Given the description of an element on the screen output the (x, y) to click on. 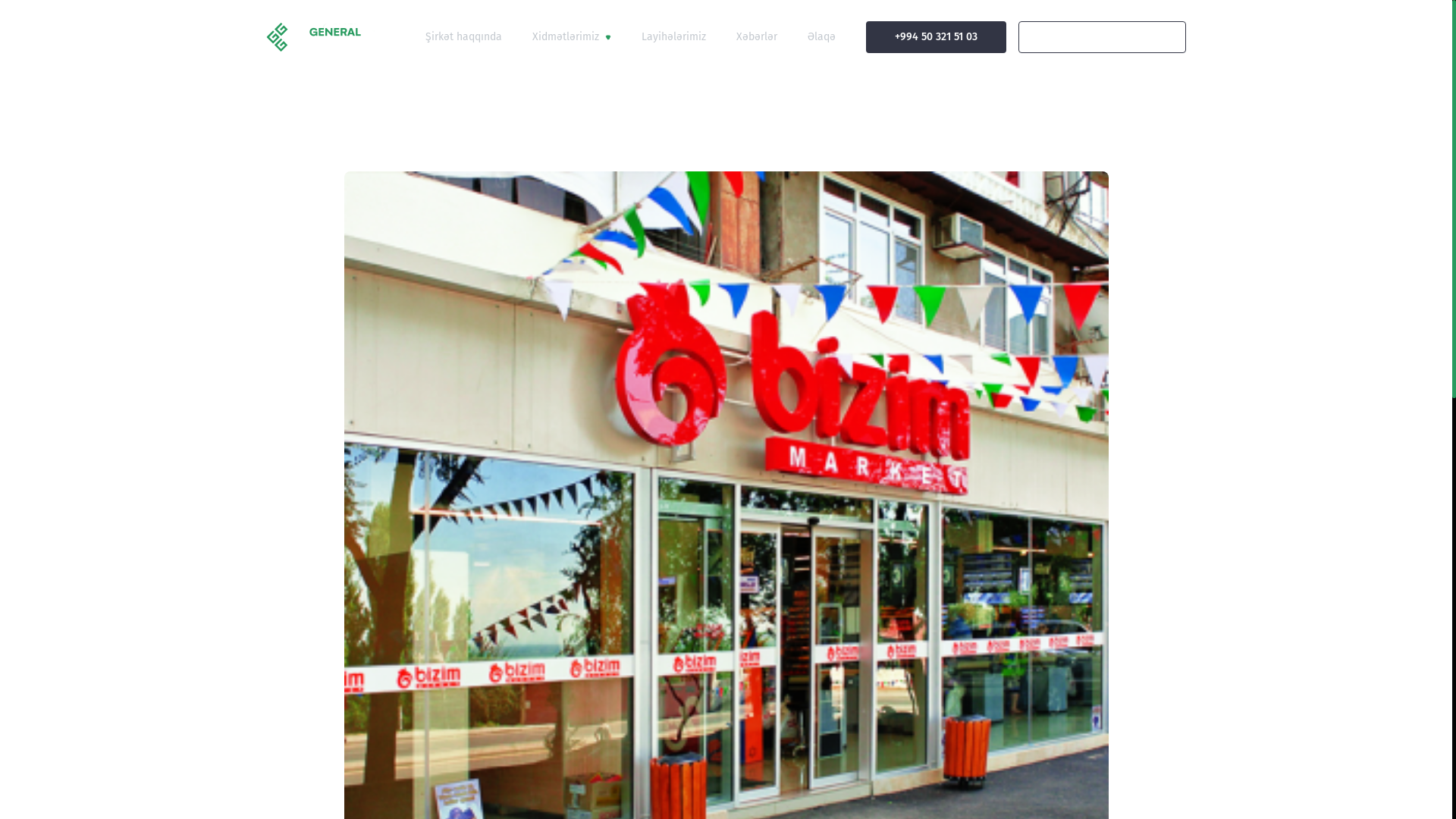
+994 50 321 51 03 Element type: text (936, 37)
General Construction Logo Element type: hover (344, 36)
+994 12 409 51 03 Element type: text (1102, 37)
